Given the description of an element on the screen output the (x, y) to click on. 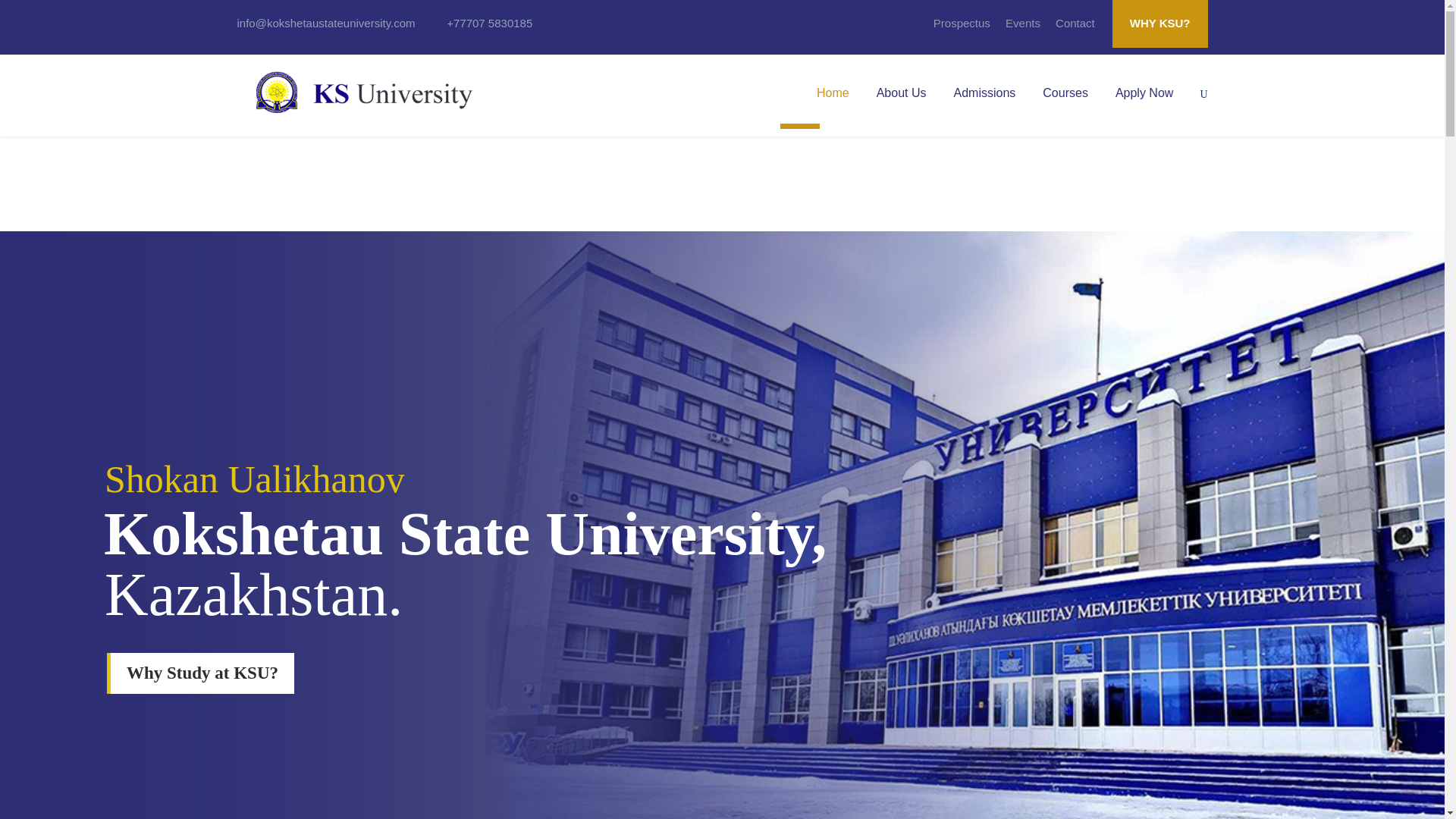
Events (1023, 29)
About Us (901, 104)
WHY KSU? (1160, 23)
Contact (1074, 29)
Apply Now (1144, 104)
Prospectus (961, 29)
Why Study at KSU? (200, 672)
Courses (1064, 104)
Admissions (984, 104)
